Given the description of an element on the screen output the (x, y) to click on. 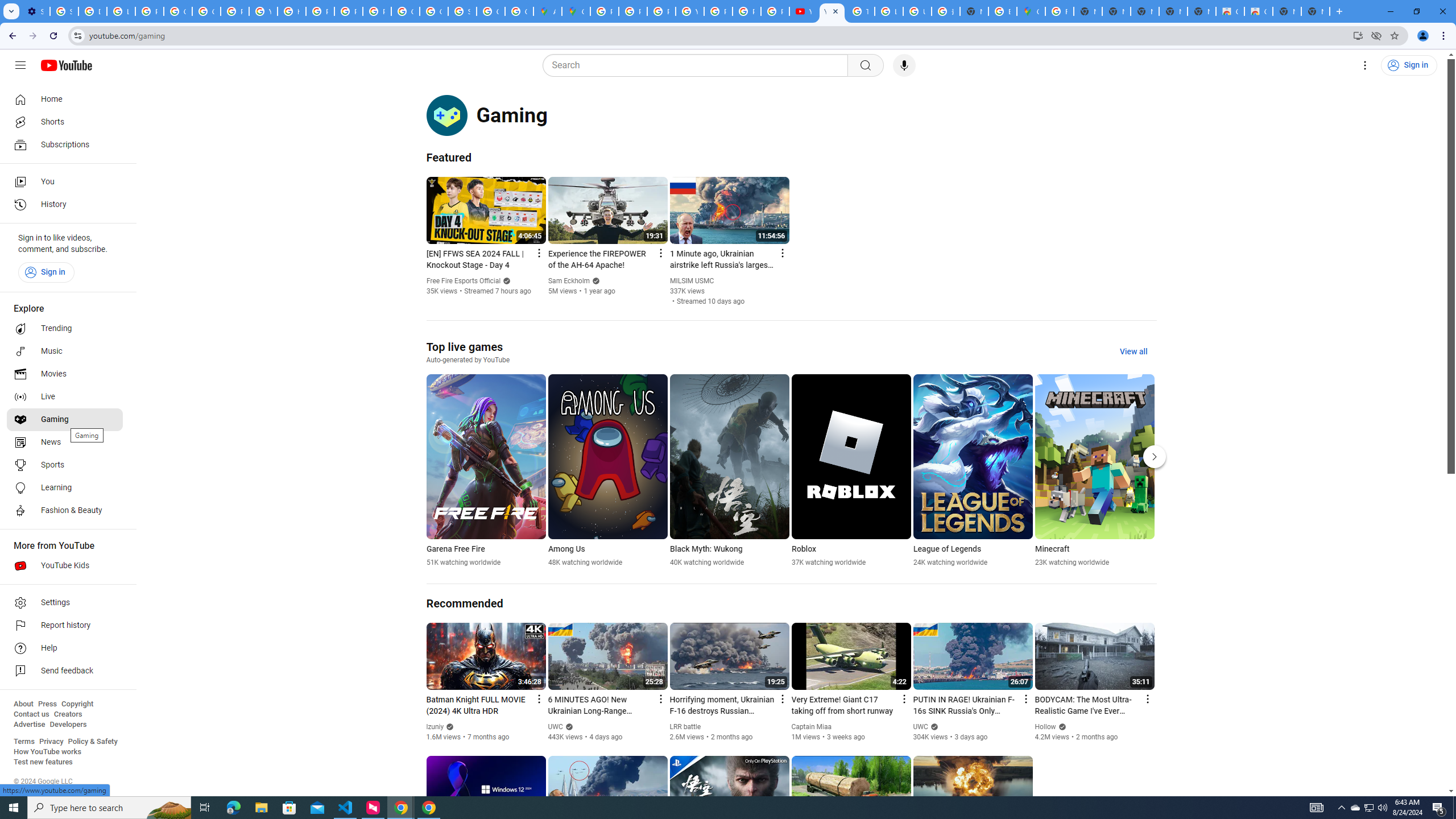
Tips & tricks for Chrome - Google Chrome Help (860, 11)
https://scholar.google.com/ (291, 11)
Privacy Checkup (746, 11)
Free Fire Esports Official (463, 280)
Google Account Help (178, 11)
lzuniy (435, 726)
